Given the description of an element on the screen output the (x, y) to click on. 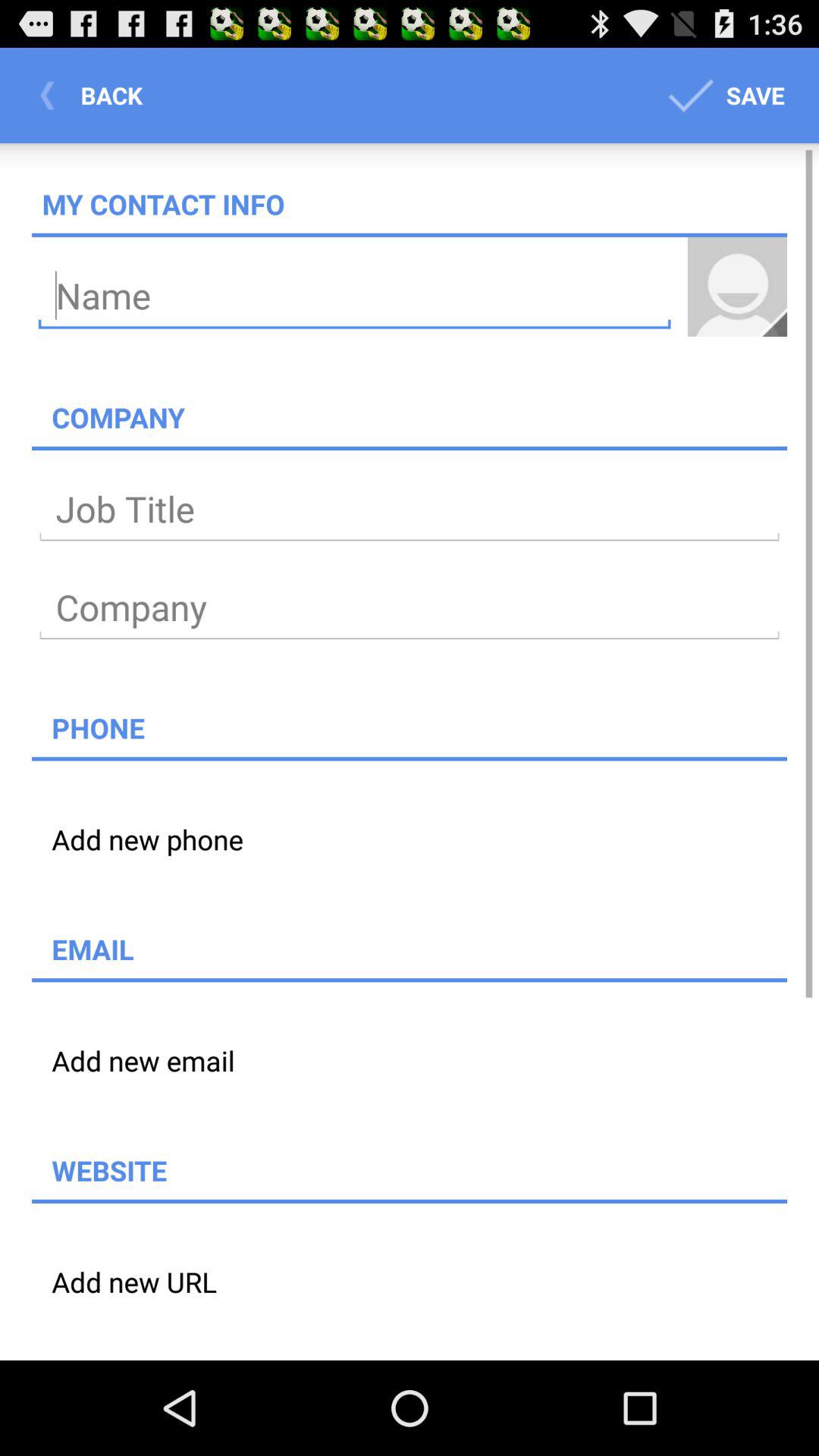
type your name (354, 296)
